Given the description of an element on the screen output the (x, y) to click on. 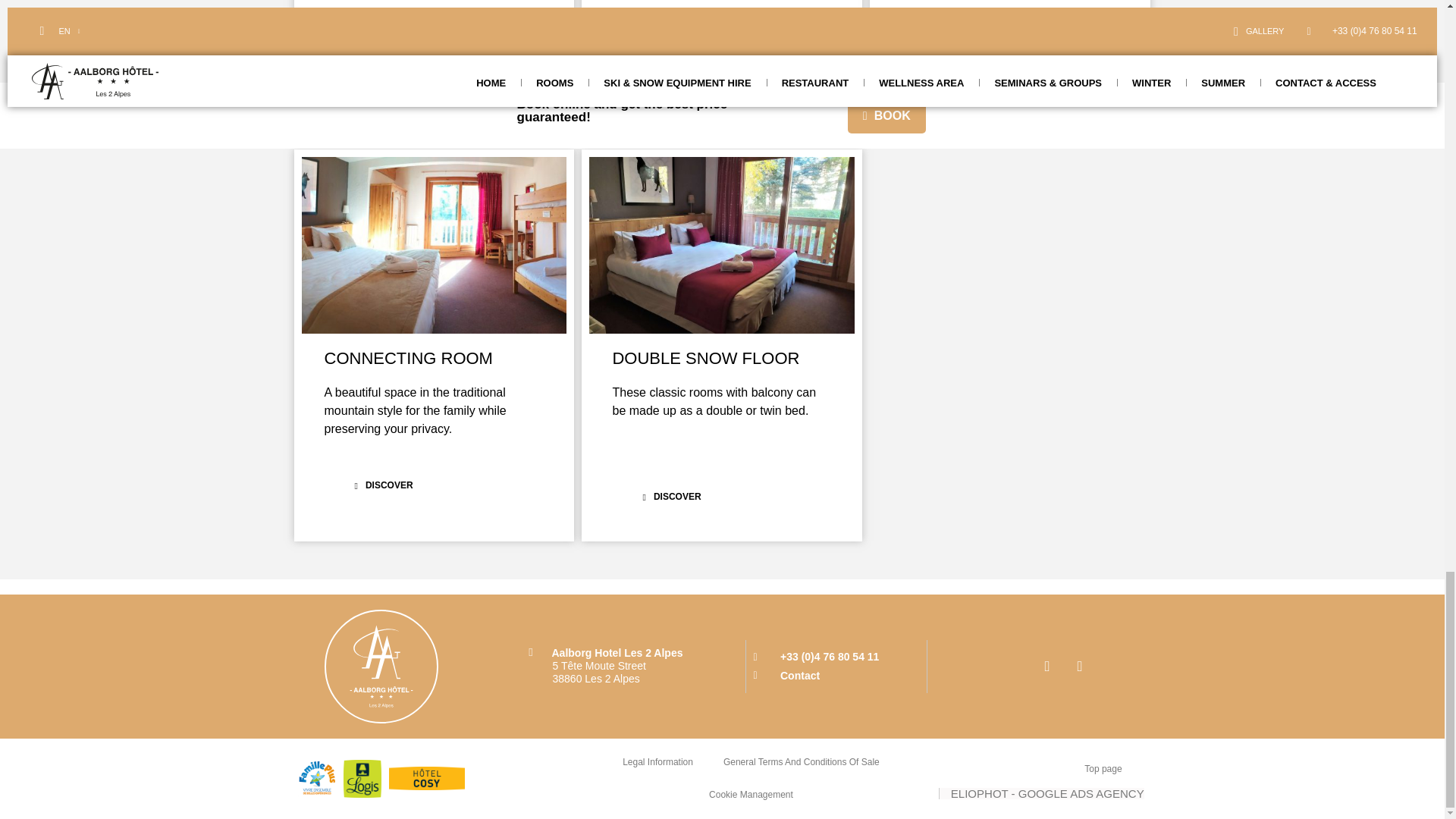
hotel les 2 alpes (434, 245)
google ads agency (1041, 793)
STANDARD DOUBLE ROOM (721, 245)
